Given the description of an element on the screen output the (x, y) to click on. 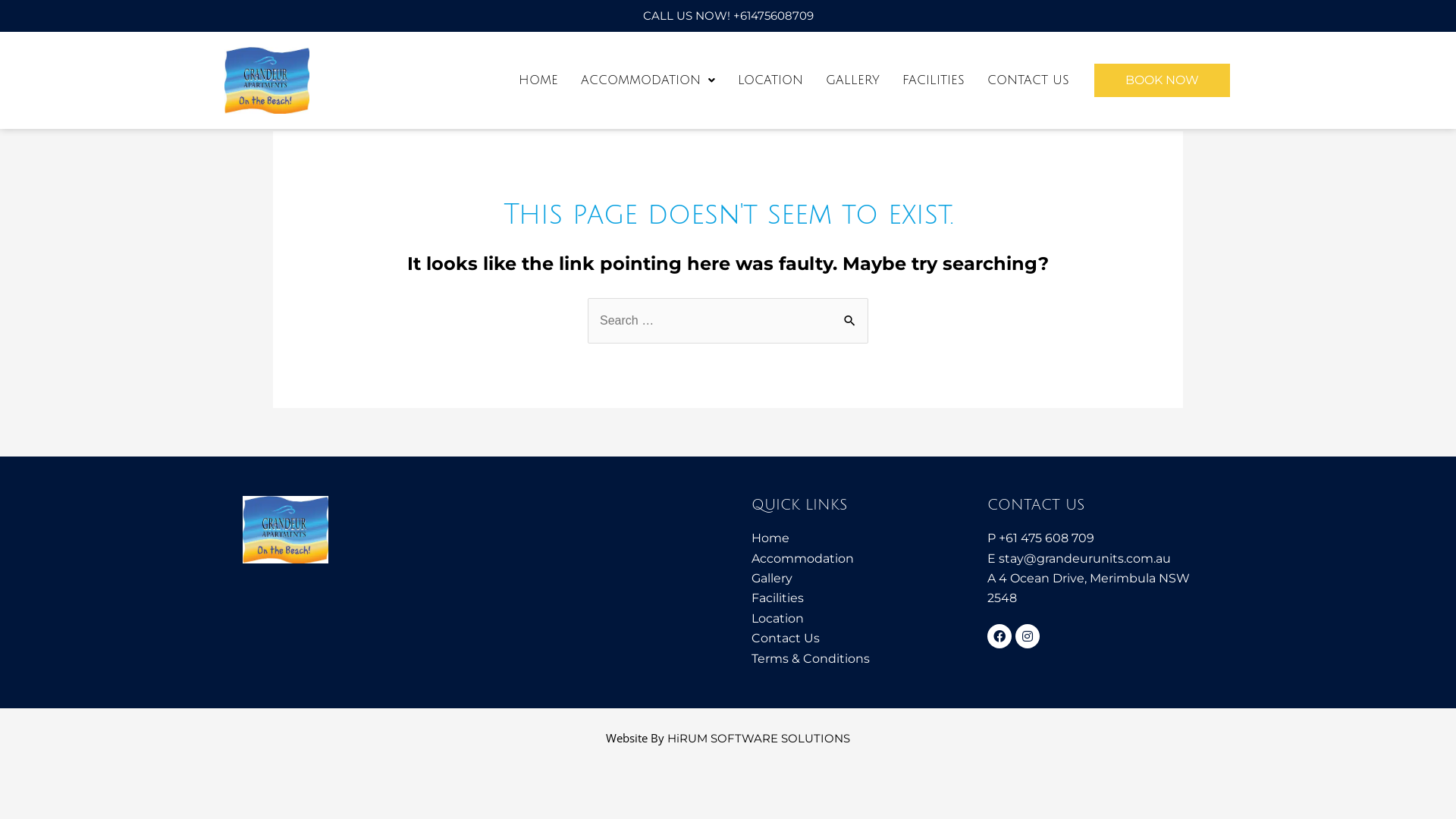
Gallery Element type: text (861, 578)
LOCATION Element type: text (770, 80)
P +61 475 608 709 Element type: text (1100, 538)
Terms & Conditions Element type: text (861, 658)
HOME Element type: text (538, 80)
Facilities Element type: text (861, 598)
FACILITIES Element type: text (933, 80)
E stay@grandeurunits.com.au Element type: text (1100, 558)
Search Element type: text (851, 313)
BOOK NOW Element type: text (1162, 80)
CALL US NOW! +61475608709 Element type: text (728, 15)
A 4 Ocean Drive, Merimbula NSW 2548 Element type: text (1100, 588)
GALLERY Element type: text (852, 80)
Contact Us Element type: text (861, 638)
CONTACT US Element type: text (1027, 80)
ACCOMMODATION Element type: text (647, 80)
HiRUM SOFTWARE SOLUTIONS Element type: text (758, 738)
Accommodation Element type: text (861, 558)
Home Element type: text (861, 538)
Location Element type: text (861, 618)
